Given the description of an element on the screen output the (x, y) to click on. 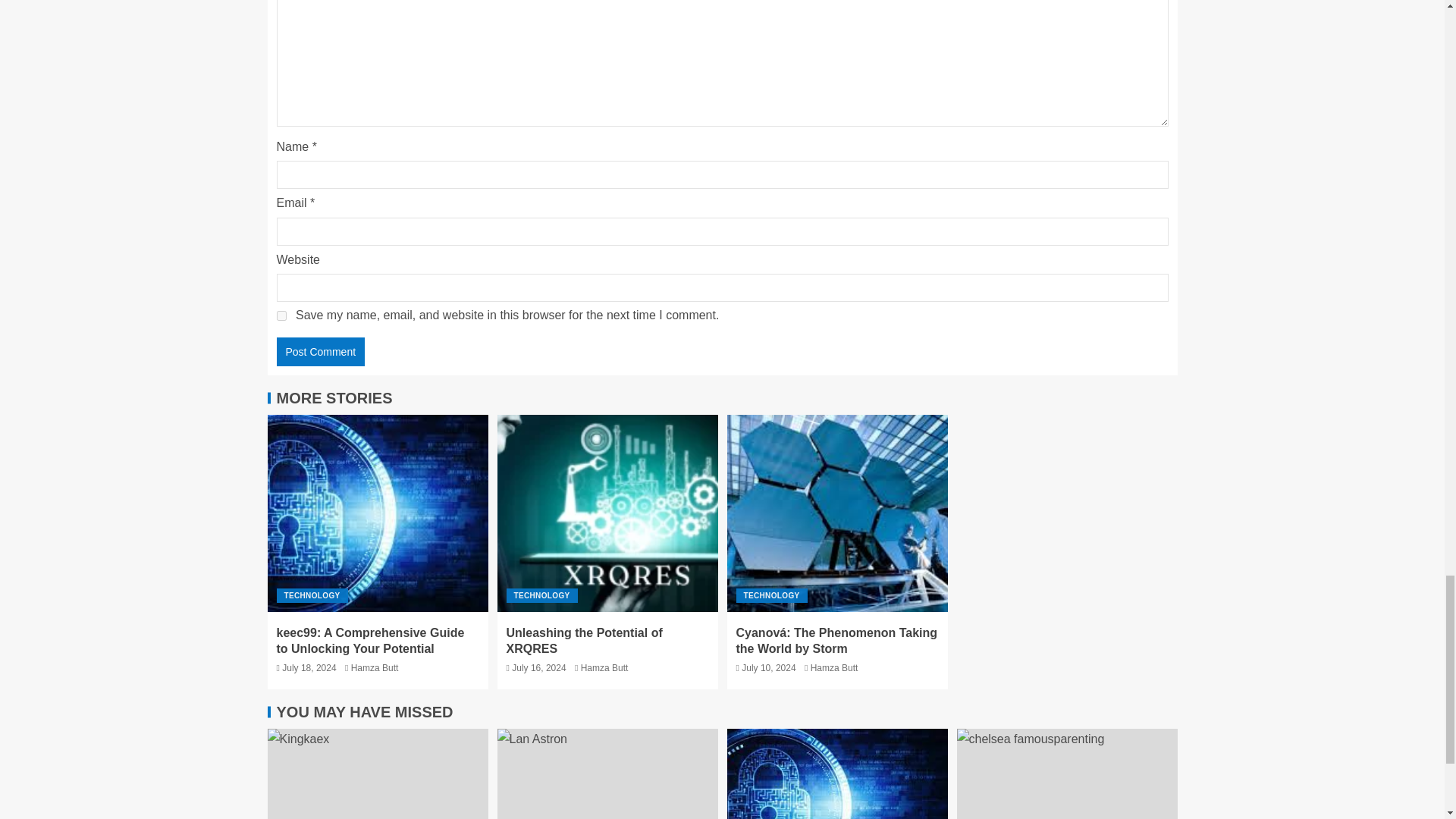
TECHNOLOGY (542, 595)
TECHNOLOGY (311, 595)
keec99: A Comprehensive Guide to Unlocking Your Potential (370, 640)
Unleashing the Potential of XRQRES (584, 640)
Hamza Butt (604, 667)
Post Comment (320, 351)
Post Comment (320, 351)
yes (280, 316)
Hamza Butt (374, 667)
